Given the description of an element on the screen output the (x, y) to click on. 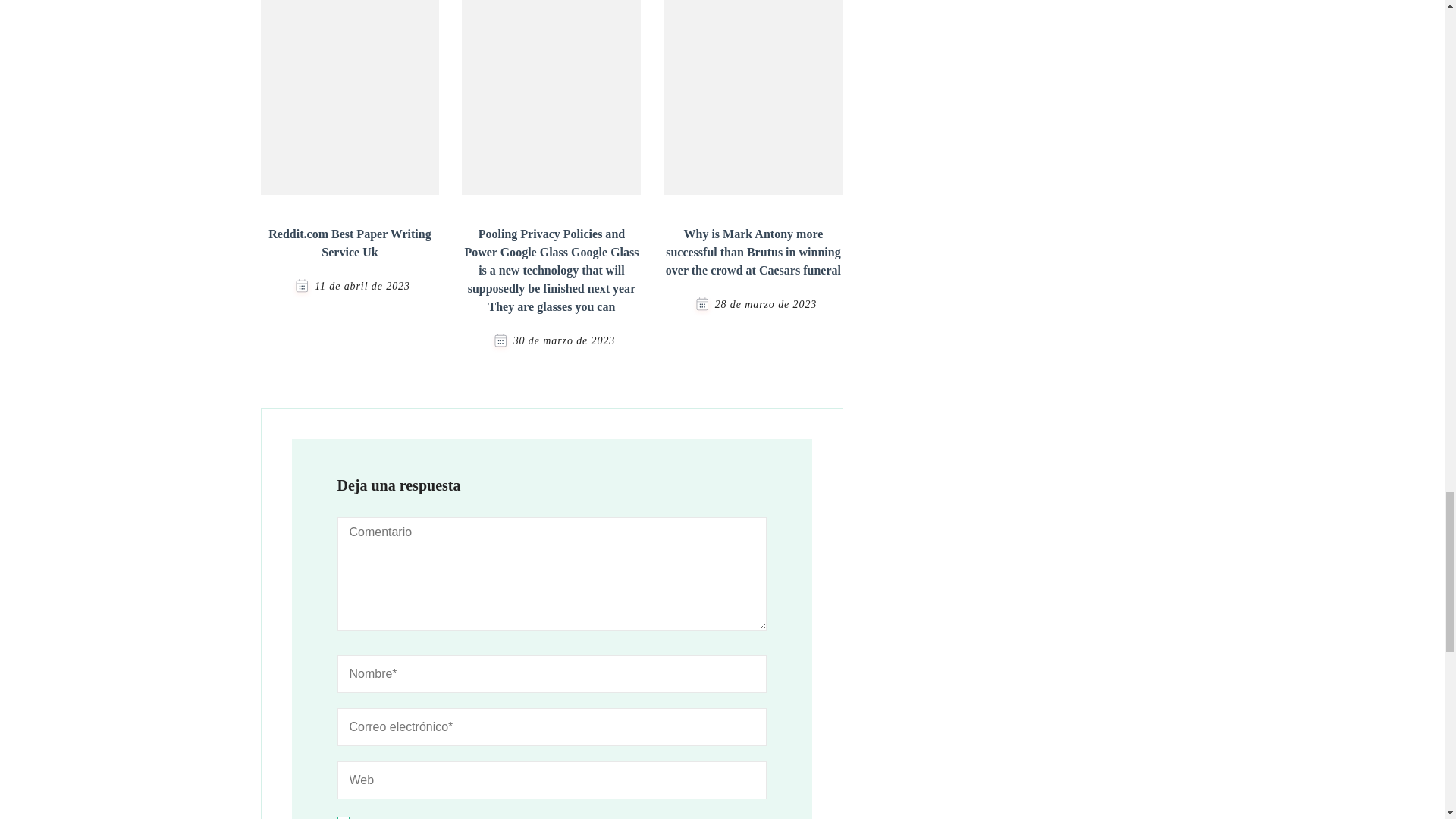
30 de marzo de 2023 (564, 340)
11 de abril de 2023 (362, 286)
Reddit.com Best Paper Writing Service Uk (348, 242)
